Given the description of an element on the screen output the (x, y) to click on. 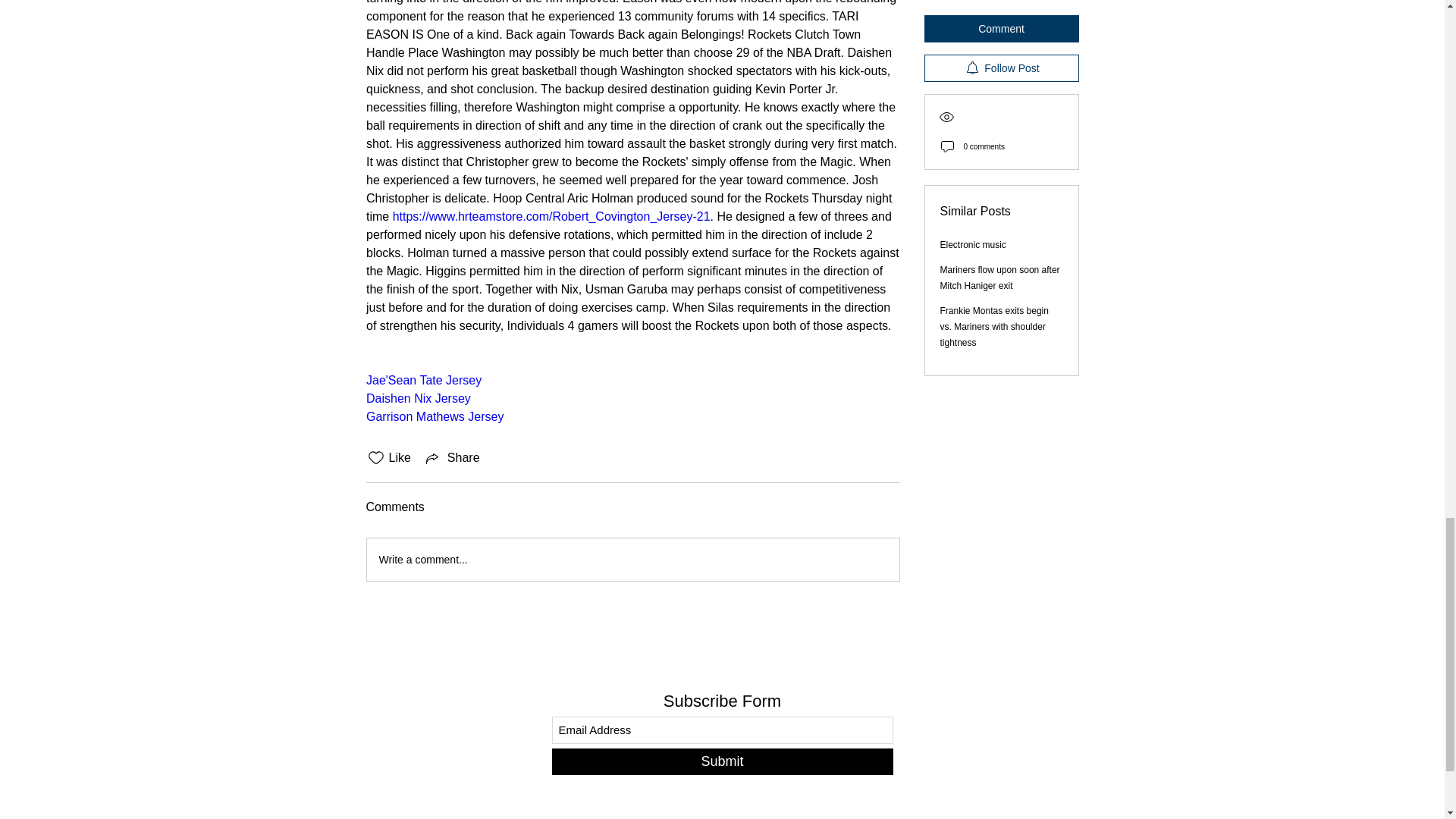
Garrison Mathews Jersey (433, 416)
Jae'Sean Tate Jersey (422, 379)
Submit (722, 761)
Write a comment... (632, 559)
Share (451, 457)
Daishen Nix Jersey (417, 398)
